Given the description of an element on the screen output the (x, y) to click on. 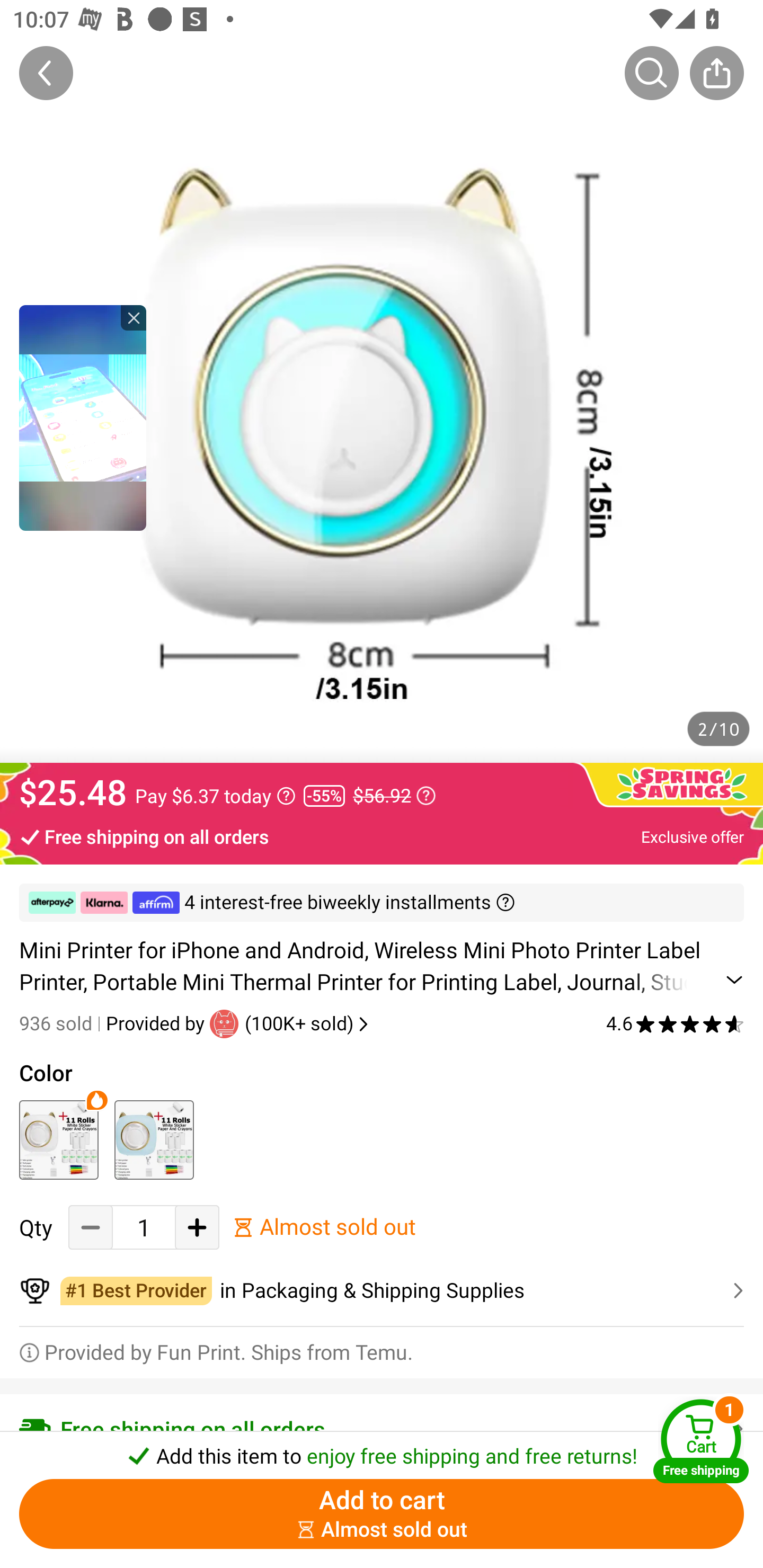
Back (46, 72)
Share (716, 72)
tronplayer_view (82, 417)
Pay $6.37 today   (215, 795)
Free shipping on all orders Exclusive offer (381, 836)
￼ ￼ ￼ 4 interest-free biweekly installments ￼ (381, 902)
936 sold Provided by  (114, 1023)
4.6 (674, 1023)
Mini Printer-White   (58, 1139)
Mini Printer-Blue (153, 1139)
Decrease Quantity Button (90, 1227)
1 (143, 1227)
Add Quantity button (196, 1227)
￼￼in Packaging & Shipping Supplies (381, 1290)
Cart Free shipping Cart (701, 1440)
Add to cart ￼￼Almost sold out (381, 1513)
